Given the description of an element on the screen output the (x, y) to click on. 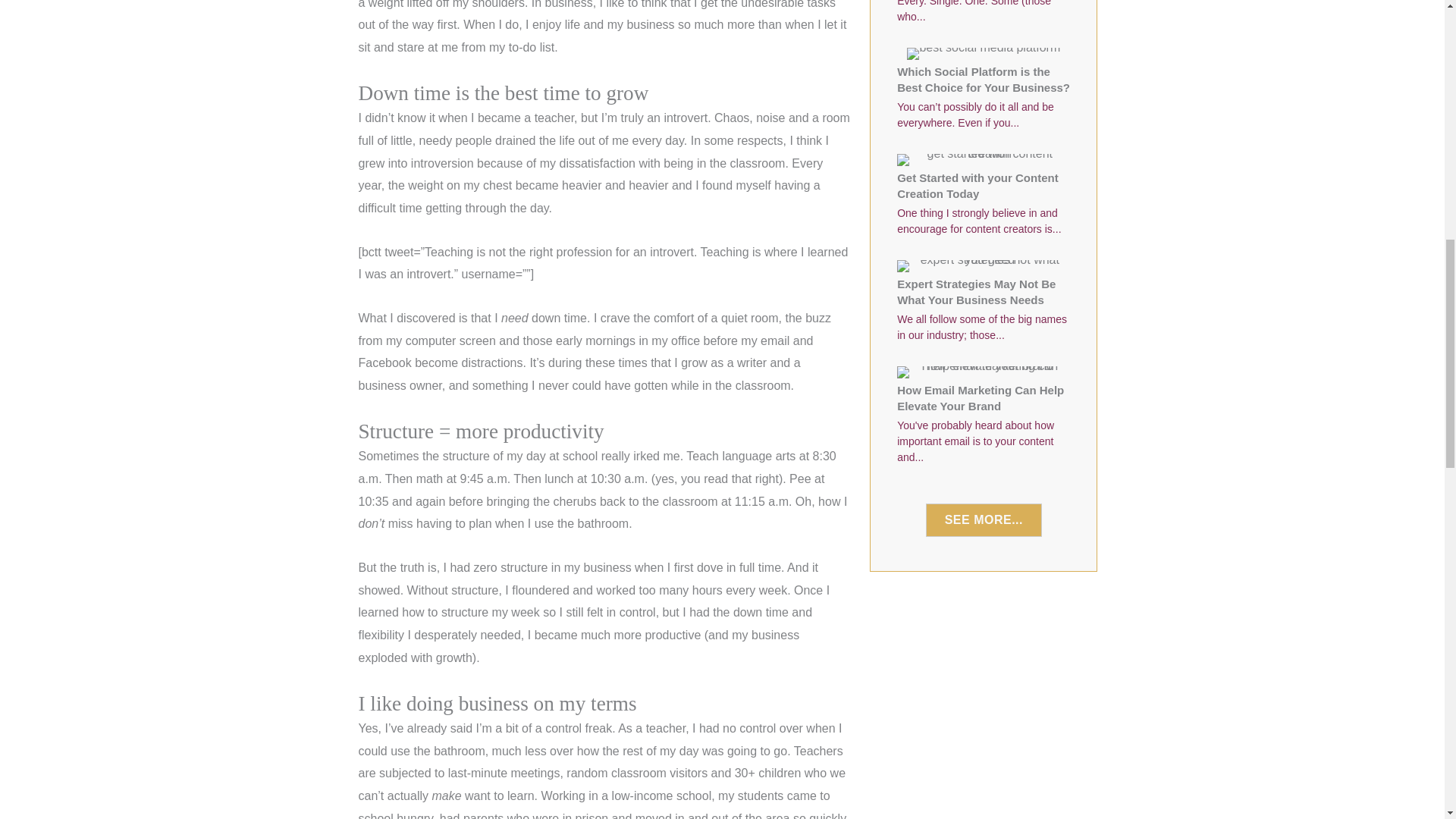
What Opt-in Do You Need to Grow Your Business? (983, 18)
Which Social Platform is the Best Choice for Your Business? (983, 91)
